Given the description of an element on the screen output the (x, y) to click on. 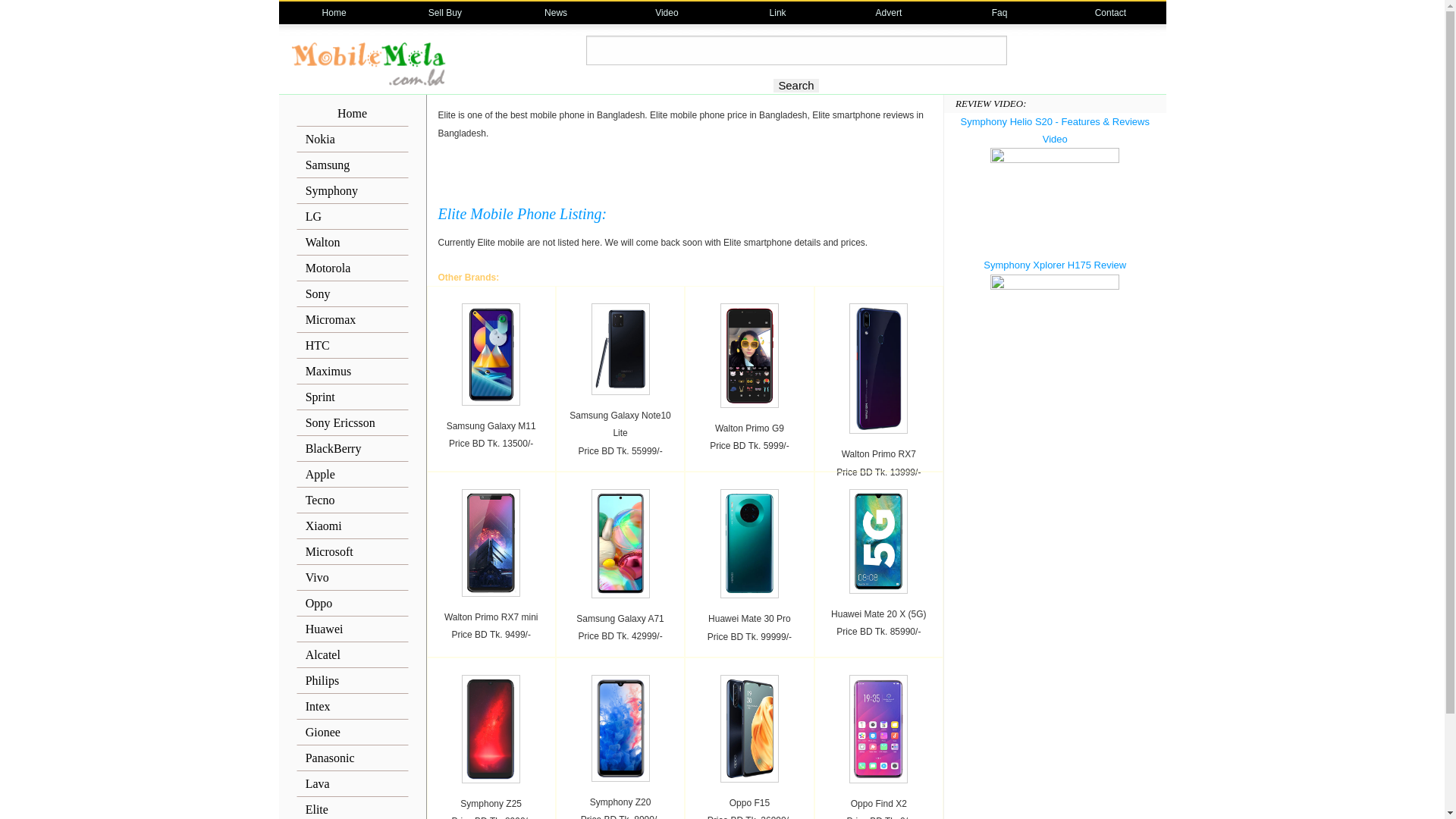
Oppo Element type: text (351, 603)
Search Element type: text (795, 85)
Xiaomi Element type: text (351, 526)
Faq Element type: text (999, 12)
Philips Element type: text (351, 680)
Walton Primo RX7 Element type: text (878, 453)
Samsung Galaxy M11 Element type: text (491, 425)
Alcatel Element type: text (351, 655)
Samsung Galaxy A71 Element type: text (619, 617)
Huawei Mate 30 Pro Element type: text (749, 617)
Walton Primo RX7 mini Element type: text (491, 616)
Sony Ericsson Element type: text (351, 423)
Maximus Element type: text (351, 371)
Microsoft Element type: text (351, 551)
Contact Element type: text (1110, 12)
News Element type: text (555, 12)
Intex Element type: text (351, 706)
HTC Element type: text (351, 345)
Sony Element type: text (351, 294)
BlackBerry Element type: text (351, 448)
Advertisement Element type: hover (684, 164)
Walton Element type: text (351, 242)
Symphony Xplorer H175 Review Element type: text (1054, 264)
Home Element type: text (351, 113)
Gionee Element type: text (351, 732)
Panasonic Element type: text (351, 758)
Walton Primo G9 Element type: text (749, 427)
Apple Element type: text (351, 474)
Video Element type: text (666, 12)
Oppo Find X2 Element type: text (878, 803)
Sprint Element type: text (351, 397)
Tecno Element type: text (351, 500)
LG Element type: text (351, 216)
Lava Element type: text (351, 784)
Symphony Z25 Element type: text (490, 803)
Home Element type: text (334, 12)
Micromax Element type: text (351, 319)
Oppo F15 Element type: text (749, 802)
Huawei Element type: text (351, 629)
Advert Element type: text (888, 12)
Nokia Element type: text (351, 139)
Symphony Z20 Element type: text (620, 801)
Symphony Helio S20 - Features & Reviews Video Element type: text (1054, 129)
Samsung Element type: text (351, 165)
Vivo Element type: text (351, 577)
Symphony Element type: text (351, 190)
Link Element type: text (777, 12)
Samsung Galaxy Note10 Lite Element type: text (619, 423)
Huawei Mate 20 X (5G) Element type: text (878, 613)
Motorola Element type: text (351, 268)
Sell Buy Element type: text (444, 12)
